Given the description of an element on the screen output the (x, y) to click on. 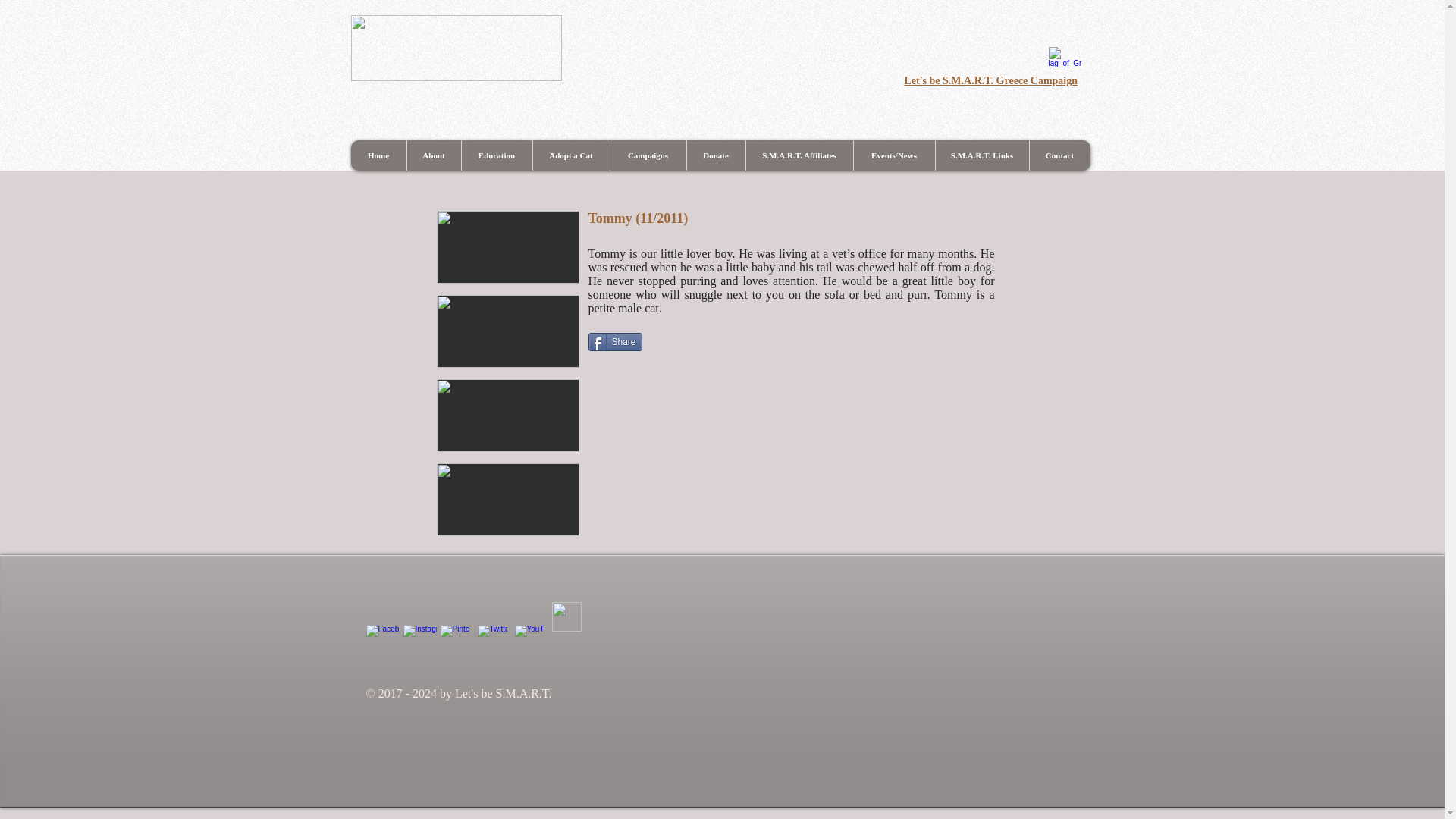
Education (496, 155)
Let's be S.M.A.R.T. Greece Campaign (990, 80)
About (433, 155)
S.M.A.R.T. Links (980, 155)
S.M.A.R.T. Affiliates (797, 155)
Contact (1058, 155)
Share (615, 341)
Adopt a Cat (571, 155)
Donate (714, 155)
Home (378, 155)
